Given the description of an element on the screen output the (x, y) to click on. 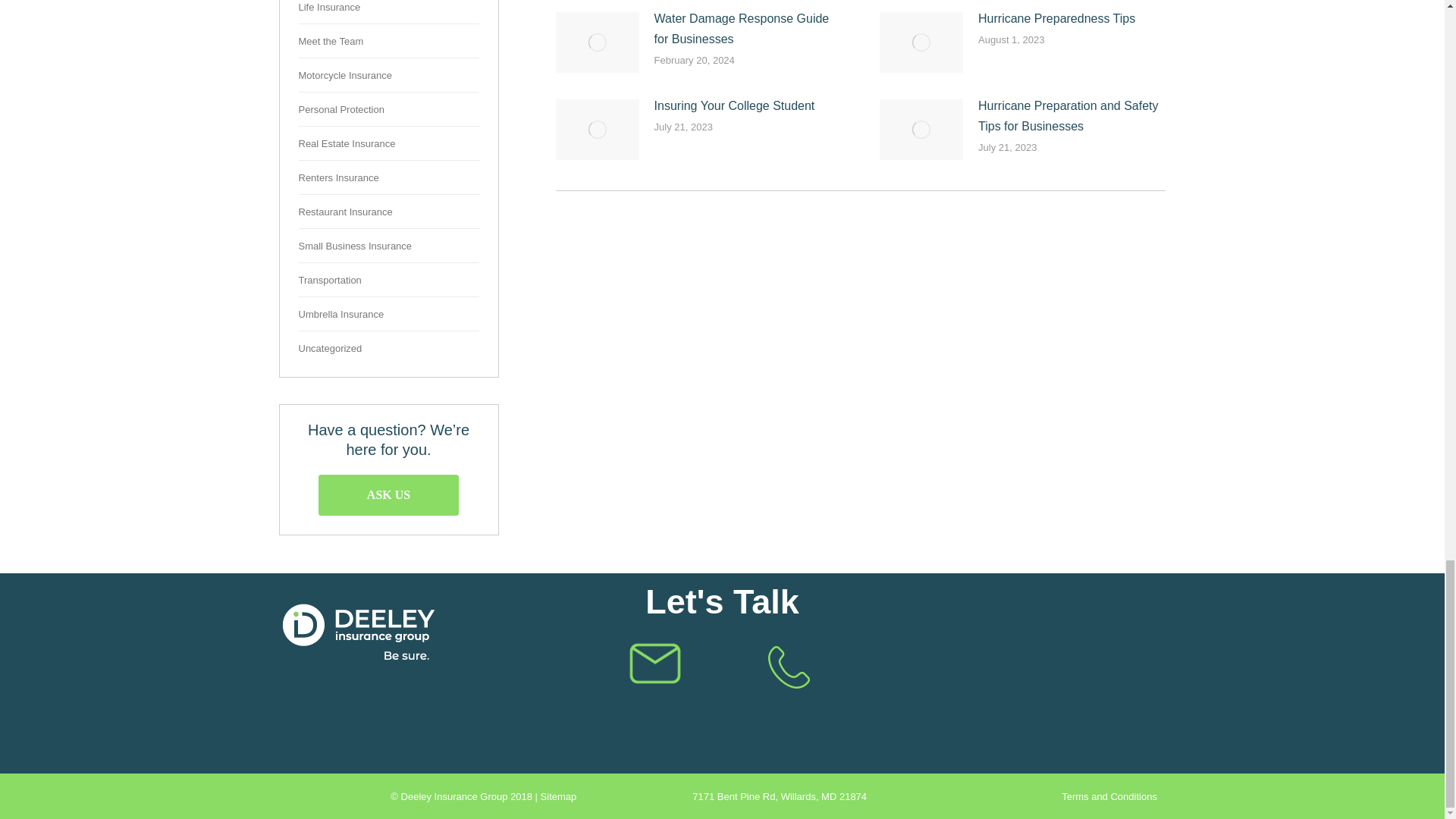
email (654, 663)
